Given the description of an element on the screen output the (x, y) to click on. 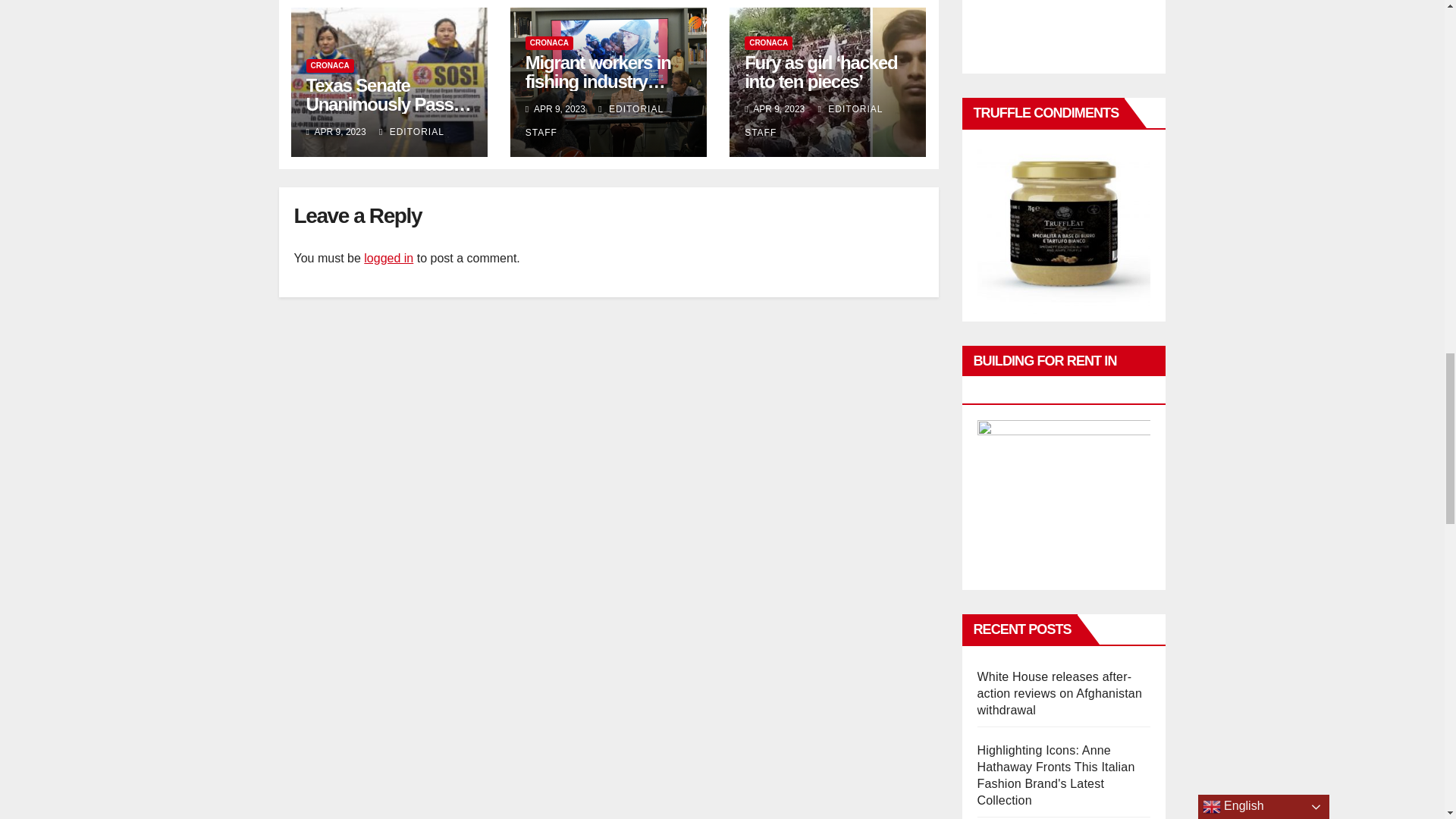
CRONACA (768, 42)
EDITORIAL (411, 131)
CRONACA (329, 65)
EDITORIAL STAFF (813, 121)
CRONACA (549, 42)
EDITORIAL STAFF (594, 121)
